Given the description of an element on the screen output the (x, y) to click on. 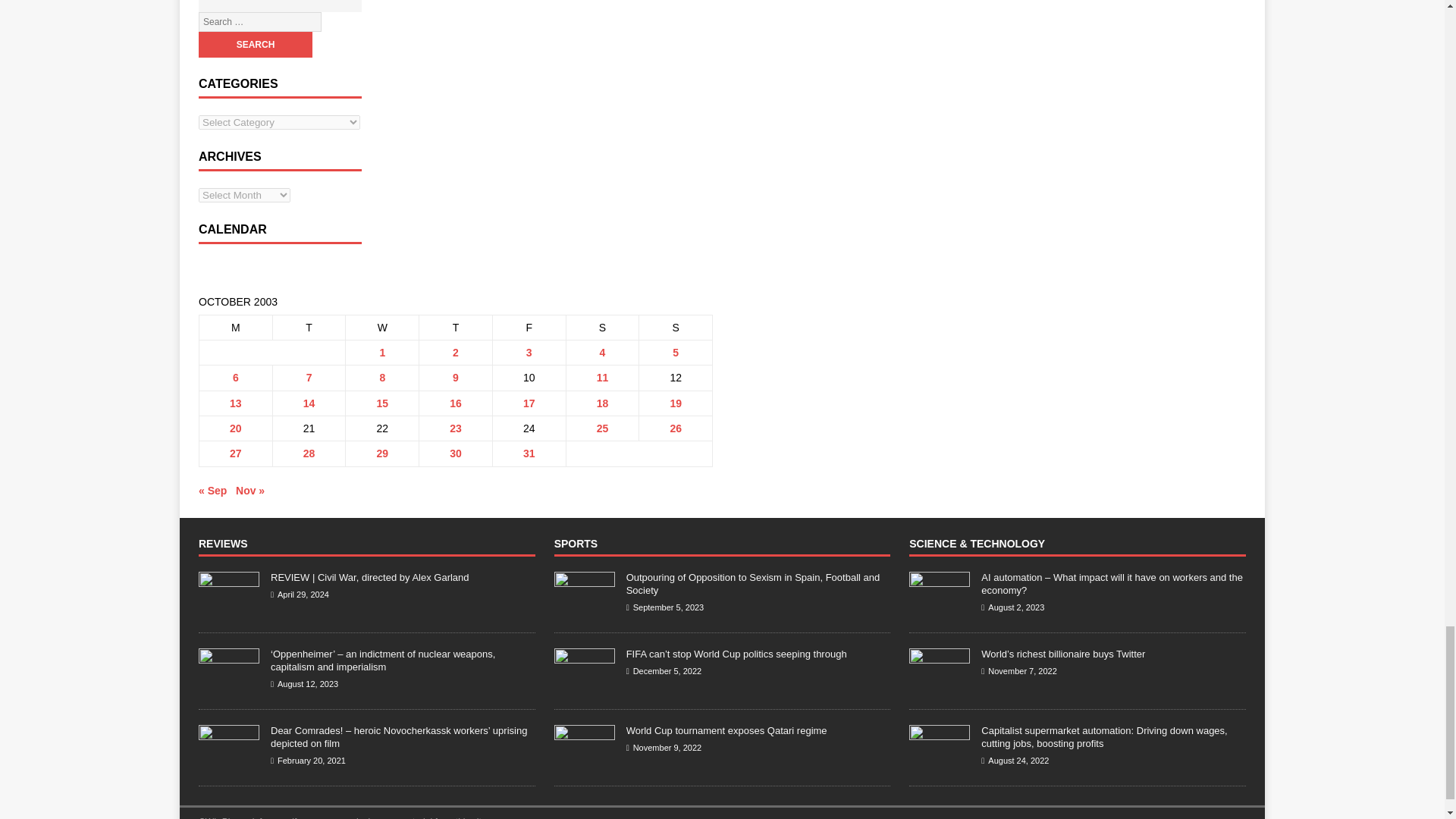
Search (255, 44)
Search (255, 44)
